Given the description of an element on the screen output the (x, y) to click on. 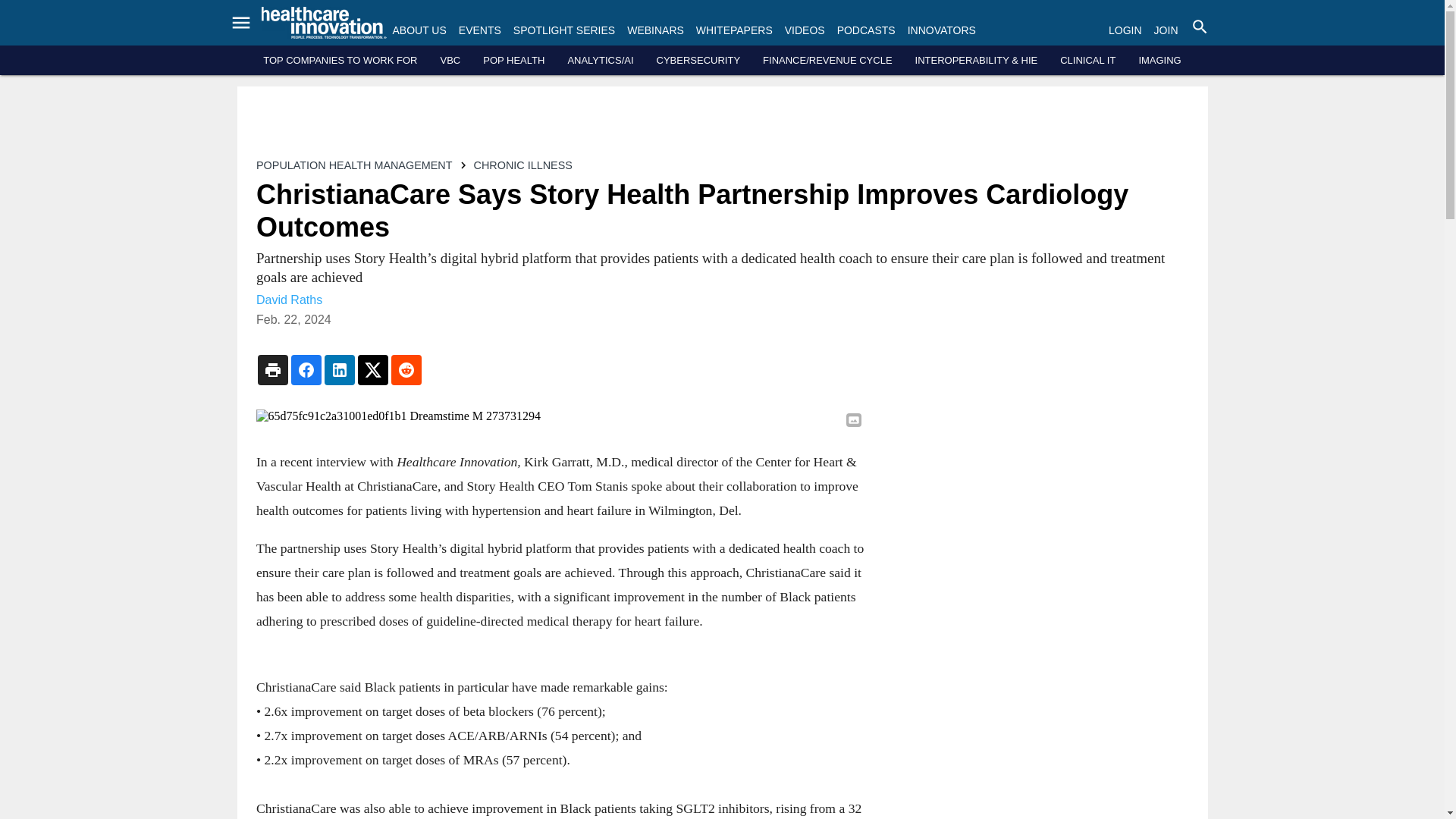
EVENTS (479, 30)
WHITEPAPERS (734, 30)
CYBERSECURITY (698, 60)
ABOUT US (419, 30)
VBC (449, 60)
JOIN (1165, 30)
CLINICAL IT (1087, 60)
IMAGING (1159, 60)
65d75fc91c2a31001ed0f1b1 Dreamstime M 273731294 (560, 416)
WEBINARS (655, 30)
TOP COMPANIES TO WORK FOR (339, 60)
PODCASTS (866, 30)
VIDEOS (804, 30)
INNOVATORS (941, 30)
LOGIN (1124, 30)
